Given the description of an element on the screen output the (x, y) to click on. 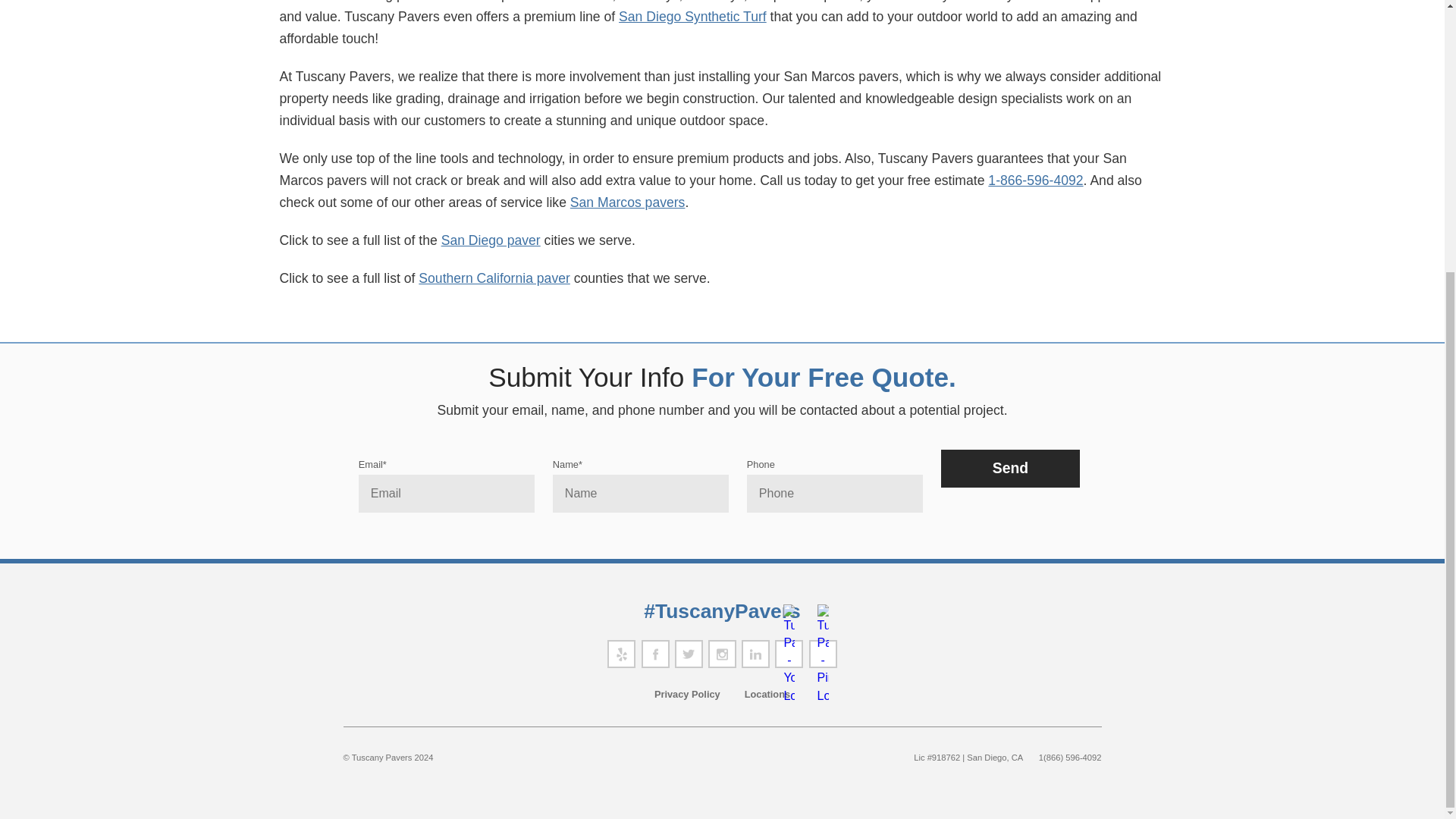
Tuscany Pavers on Instagram (722, 653)
1-866-596-4092 (1035, 180)
Tuscany Pavers on Twitter (689, 653)
Send (1010, 468)
Tuscany Pavers on Yelp (620, 653)
Send (1010, 468)
Tuscany Pavers on LinkedIn (755, 653)
Tuscany Pavers on Pinterest (822, 653)
San Marcos pavers (627, 201)
Tuscany Pavers on Facebook (655, 653)
